Given the description of an element on the screen output the (x, y) to click on. 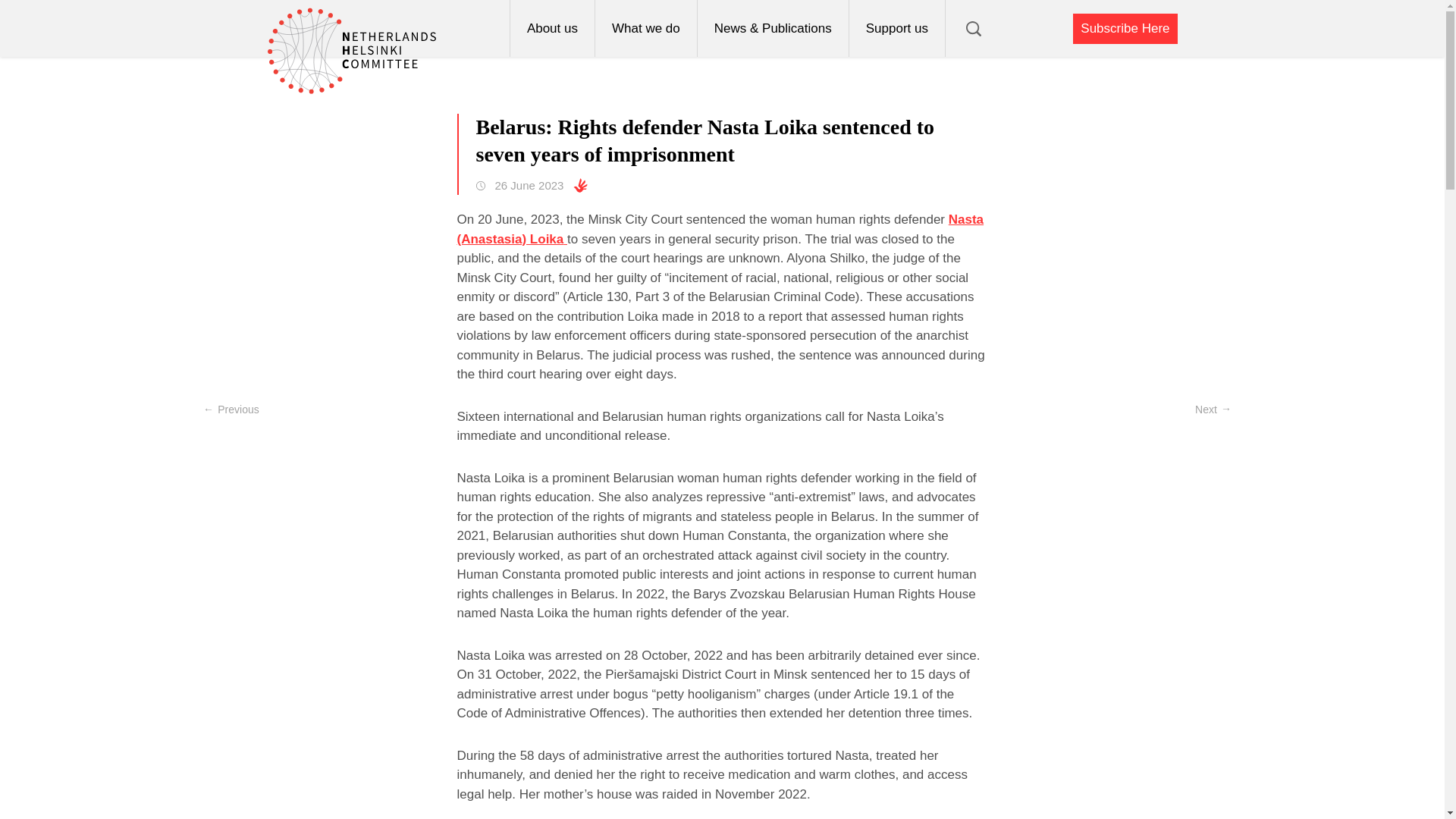
What we do (645, 28)
Next (1213, 409)
Support us (896, 28)
Subscribe Here (1124, 28)
Previous (231, 409)
About us (551, 28)
